Given the description of an element on the screen output the (x, y) to click on. 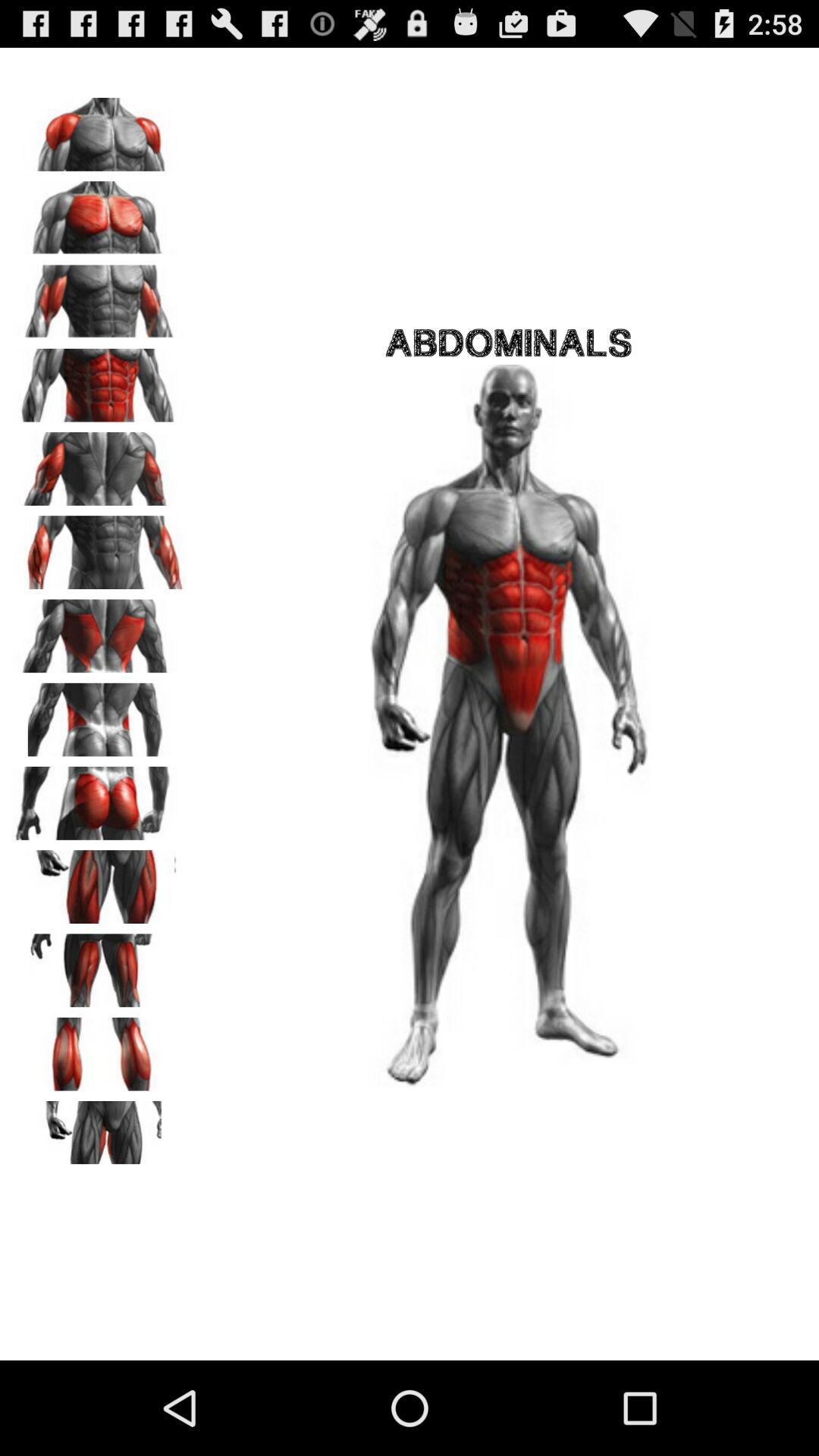
switch body part (99, 1048)
